Given the description of an element on the screen output the (x, y) to click on. 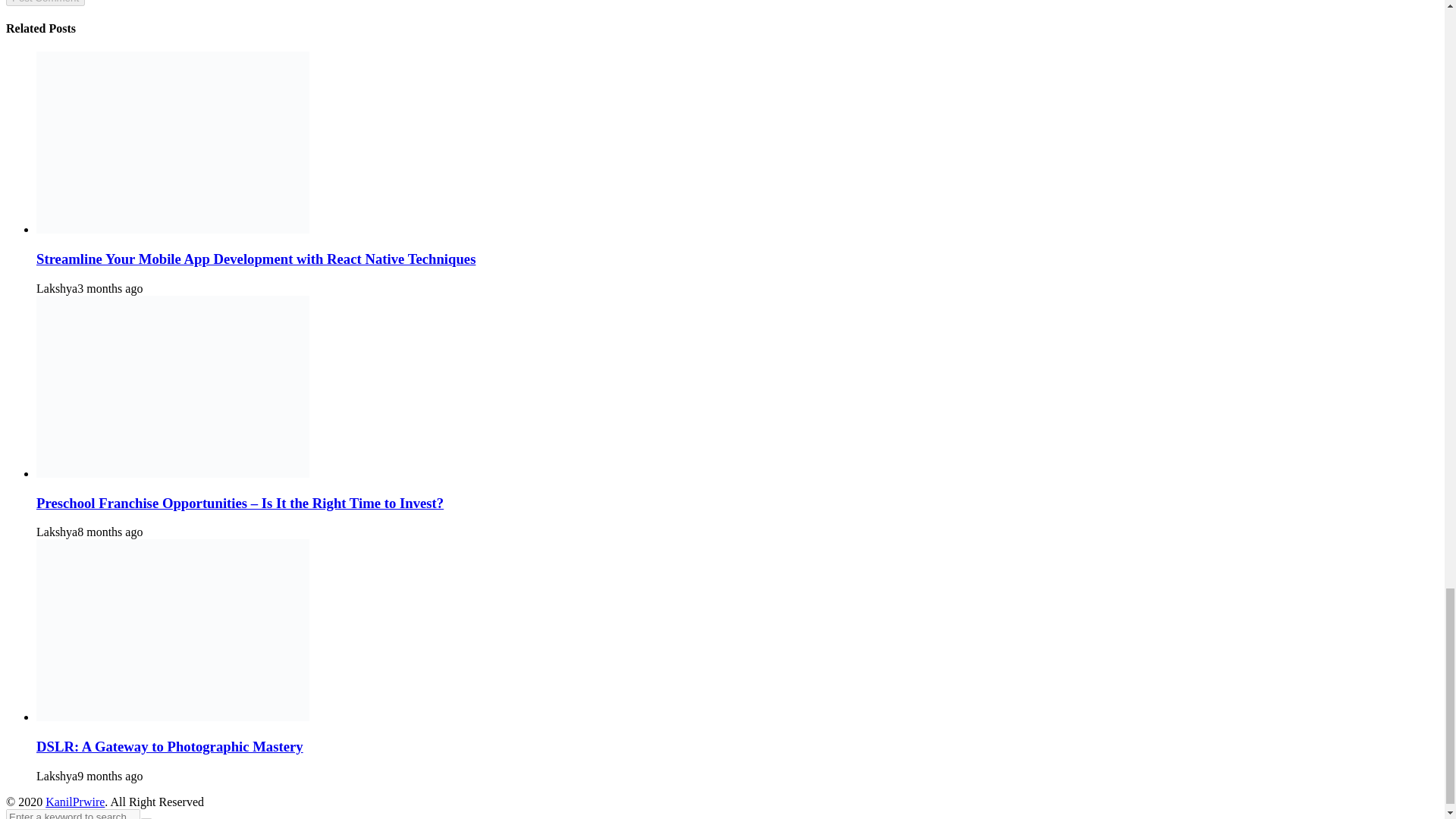
Post Comment (44, 2)
DSLR: A Gateway to Photographic Mastery (169, 746)
